Given the description of an element on the screen output the (x, y) to click on. 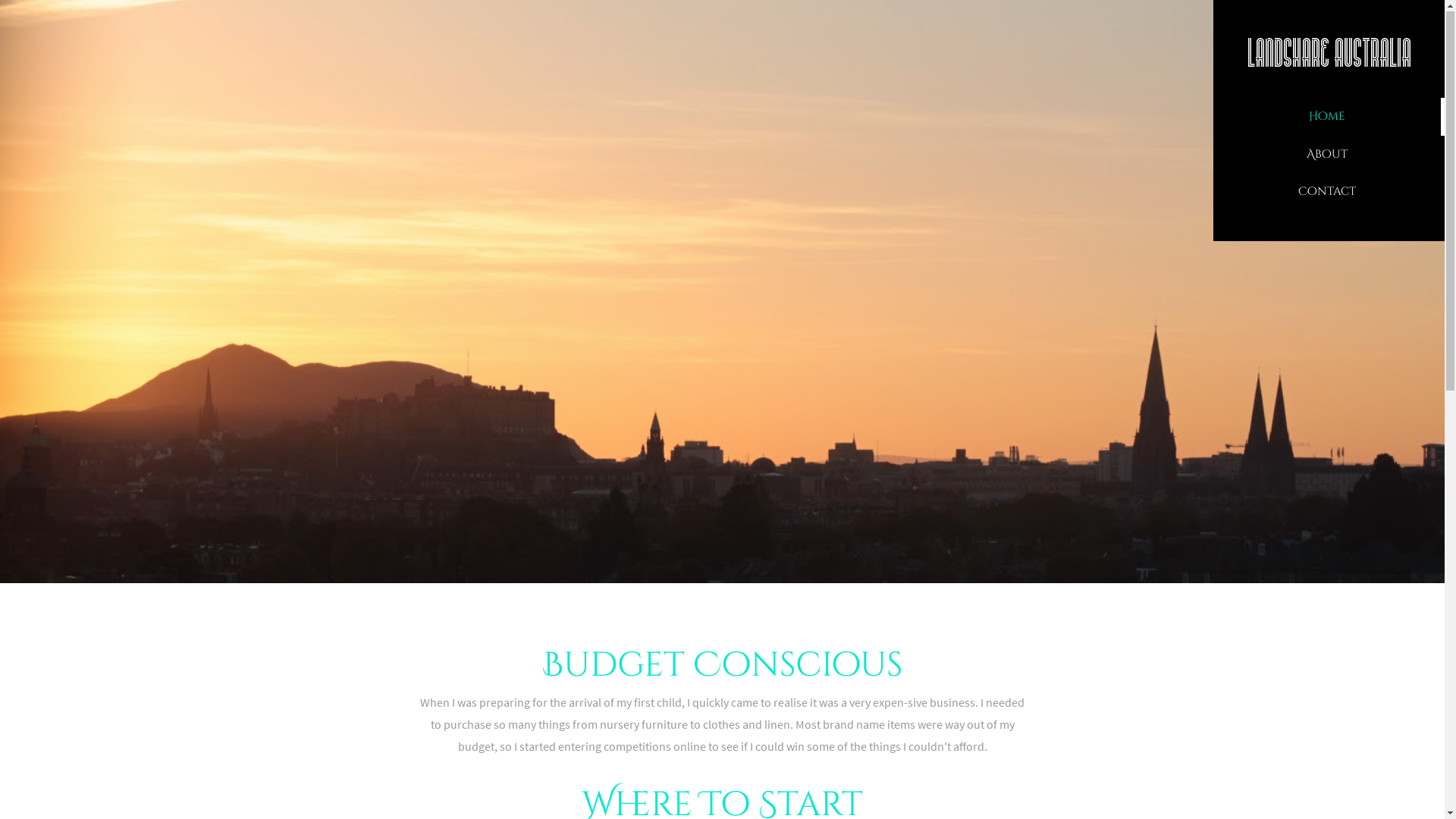
Landshare Australia Element type: text (1329, 52)
Home Element type: text (1326, 117)
Contact Element type: text (1326, 192)
About Element type: text (1326, 155)
